Given the description of an element on the screen output the (x, y) to click on. 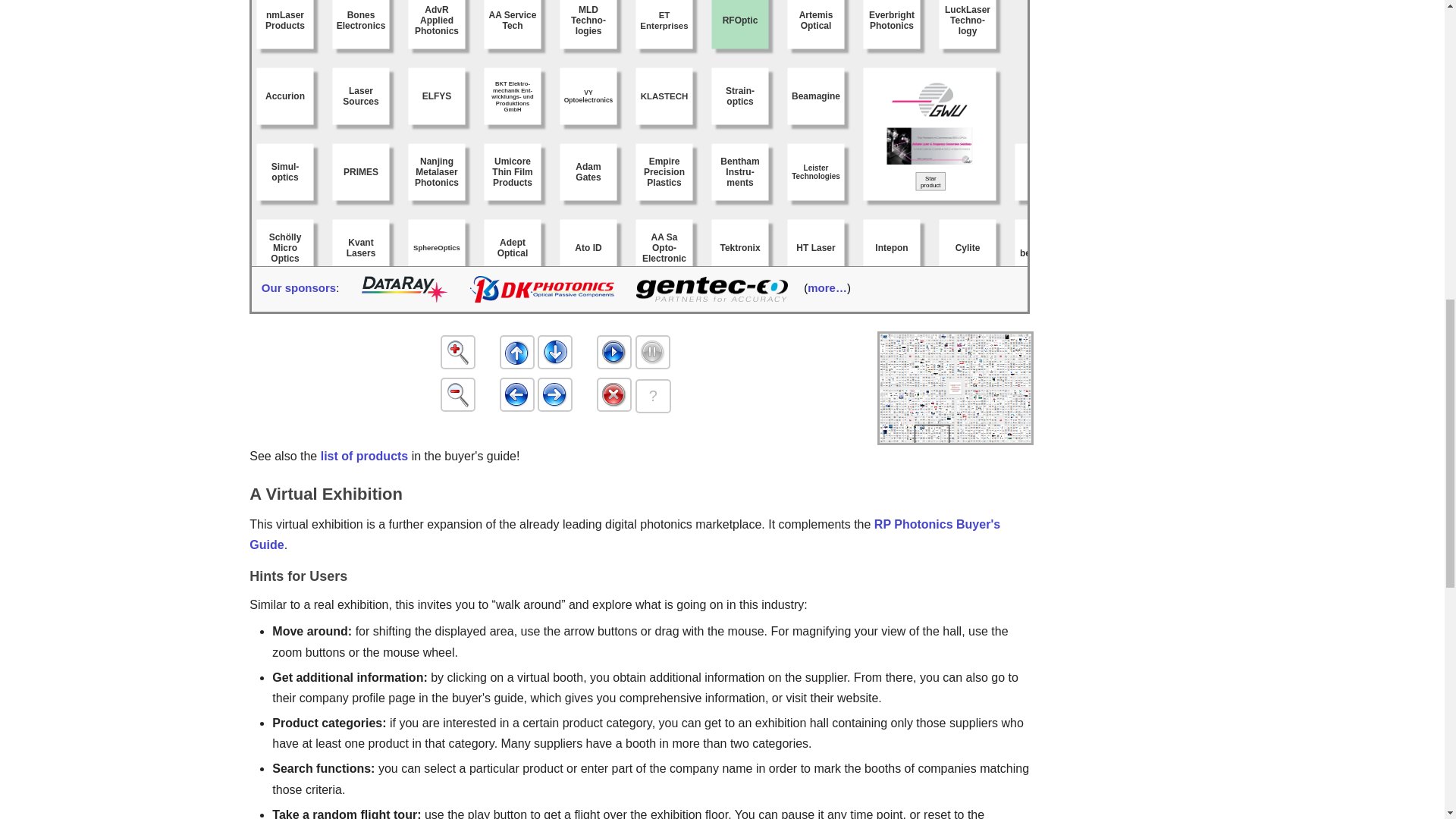
10Gtek Transceivers (995, 15)
